Given the description of an element on the screen output the (x, y) to click on. 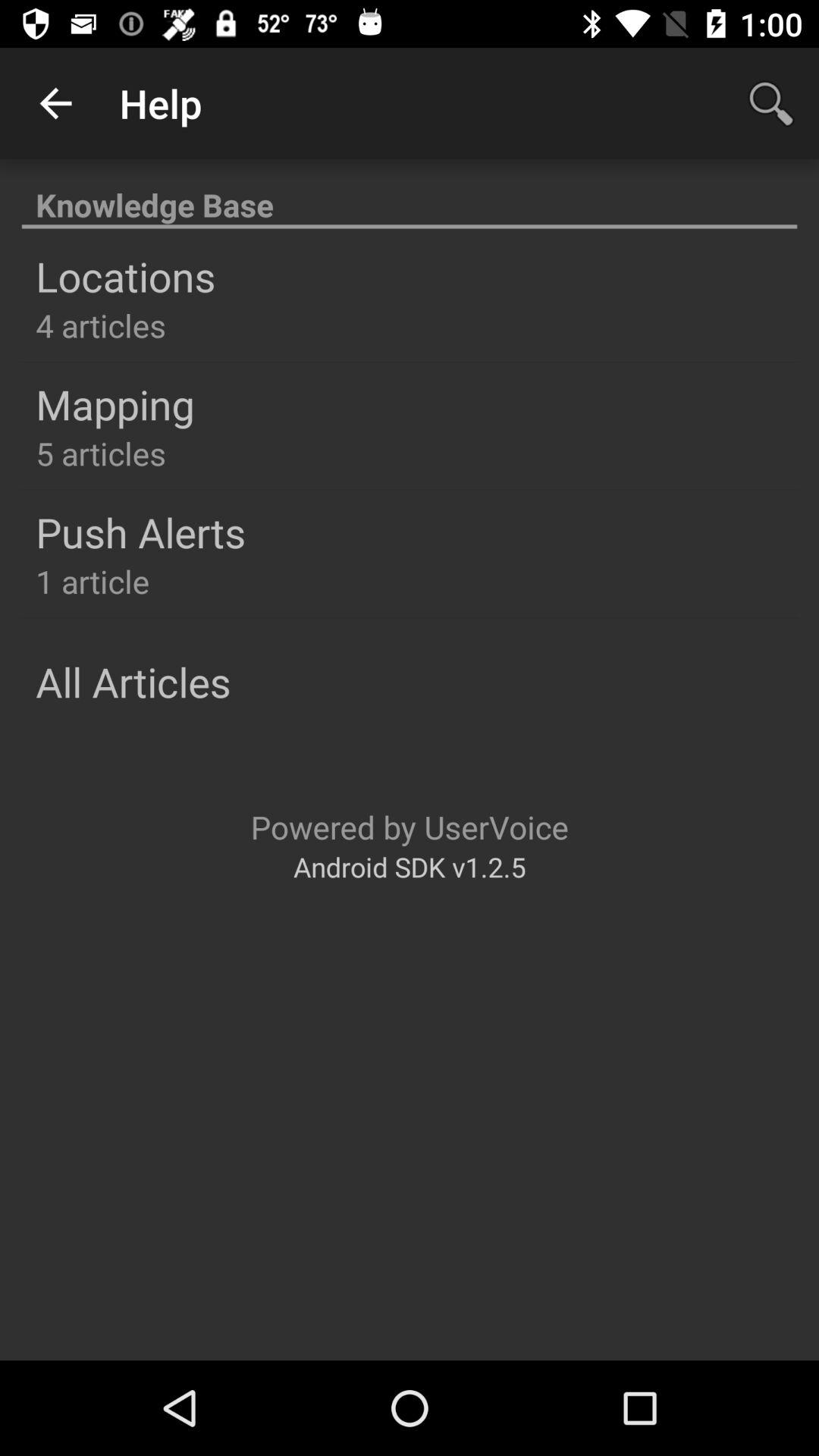
turn off the 1 article item (92, 580)
